Given the description of an element on the screen output the (x, y) to click on. 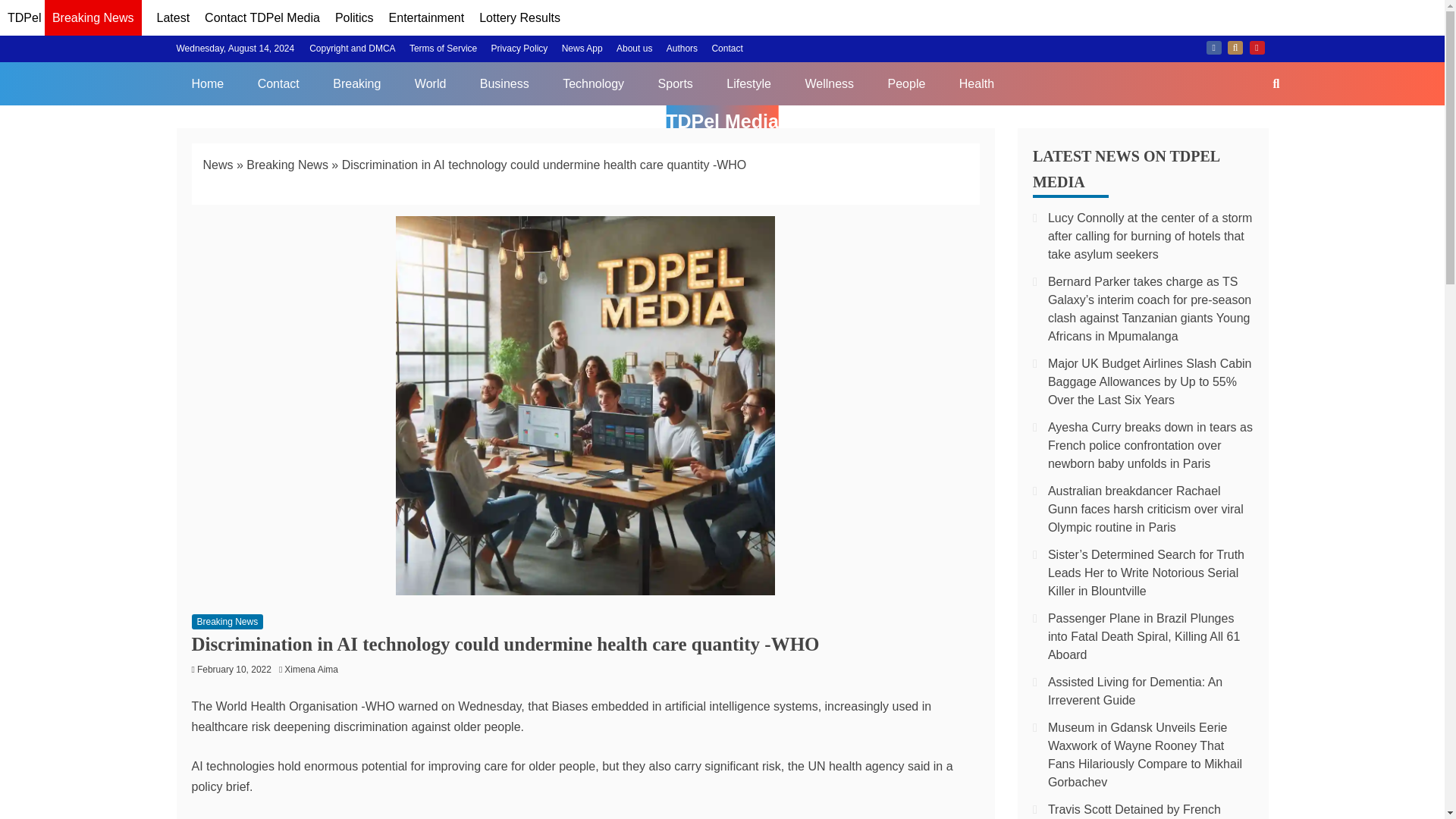
Home (207, 83)
News App (582, 48)
Contact TDPel Media (262, 17)
Technology (593, 83)
February 10, 2022 (233, 669)
About us (633, 48)
World (429, 83)
Copyright and DMCA (351, 48)
Contact (726, 48)
Breaking News (287, 164)
